Given the description of an element on the screen output the (x, y) to click on. 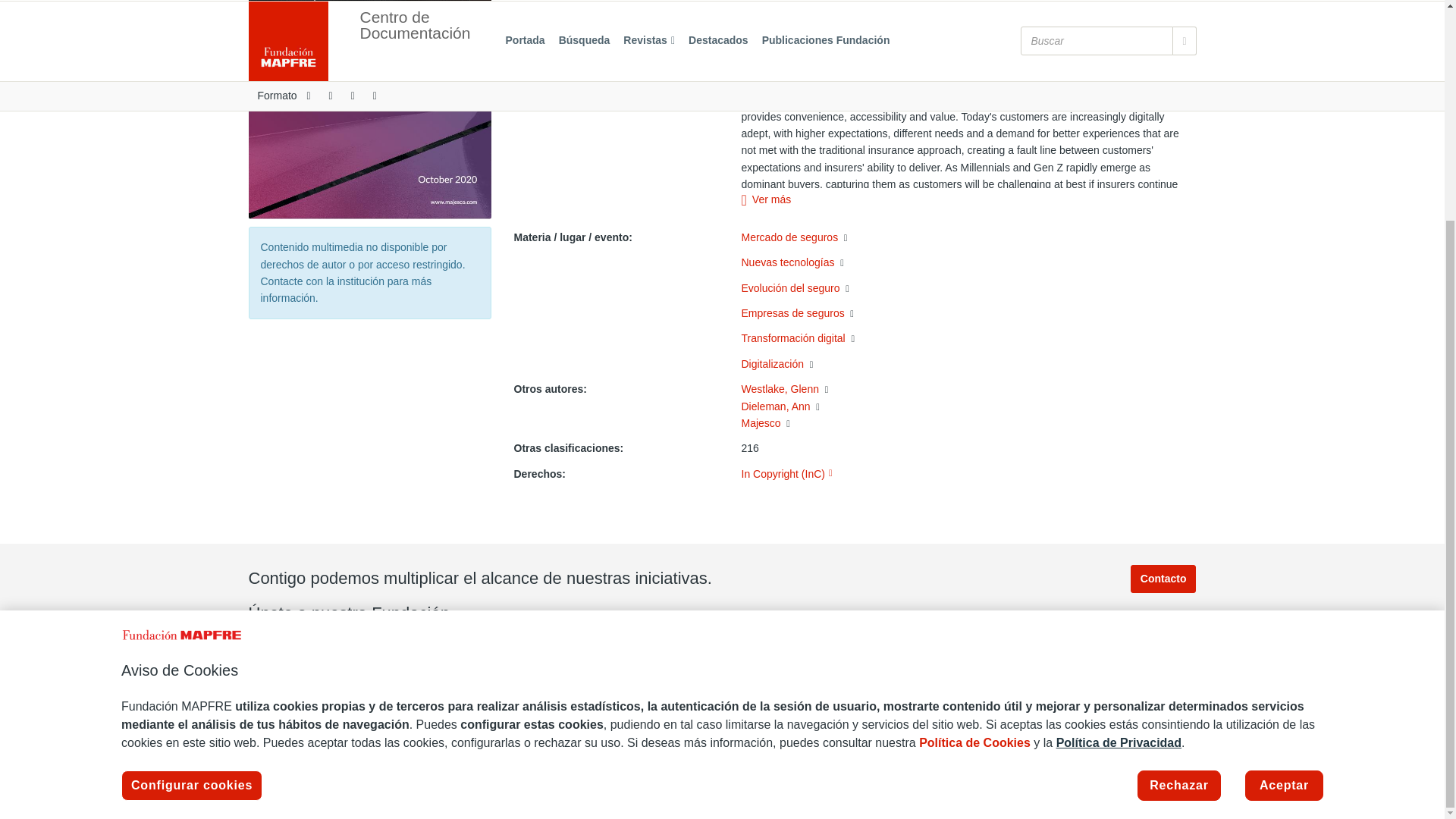
Descripciones relacionadas (788, 423)
Descripciones relacionadas (852, 338)
Descripciones relacionadas (811, 364)
Descripciones relacionadas (817, 407)
Descripciones relacionadas (842, 262)
